Given the description of an element on the screen output the (x, y) to click on. 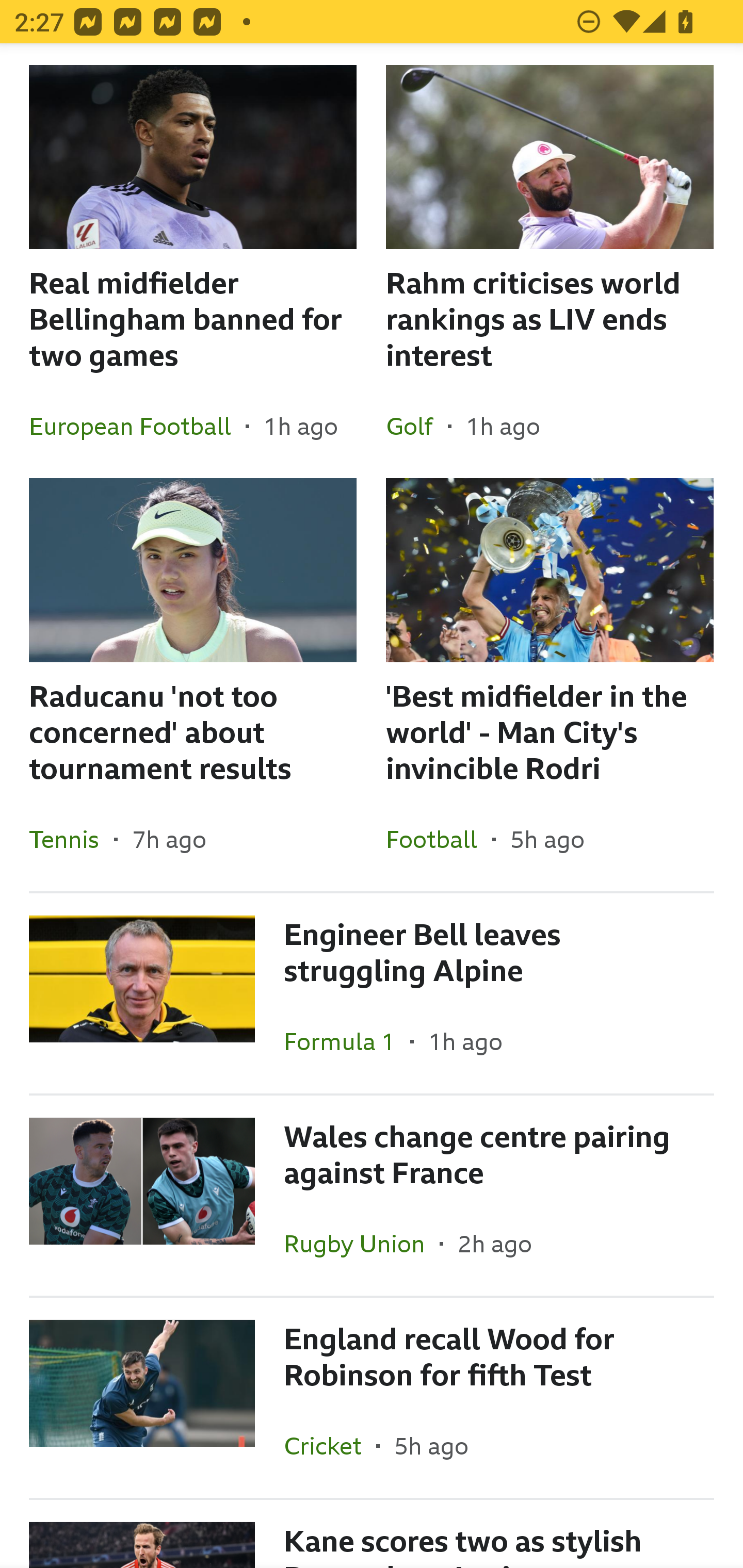
European Football In the section European Football (136, 425)
Golf In the section Golf (416, 425)
Tennis In the section Tennis (70, 838)
Football In the section Football (438, 838)
Formula 1 In the section Formula 1 (346, 1040)
Rugby Union In the section Rugby Union (361, 1243)
Cricket In the section Cricket (329, 1445)
